Given the description of an element on the screen output the (x, y) to click on. 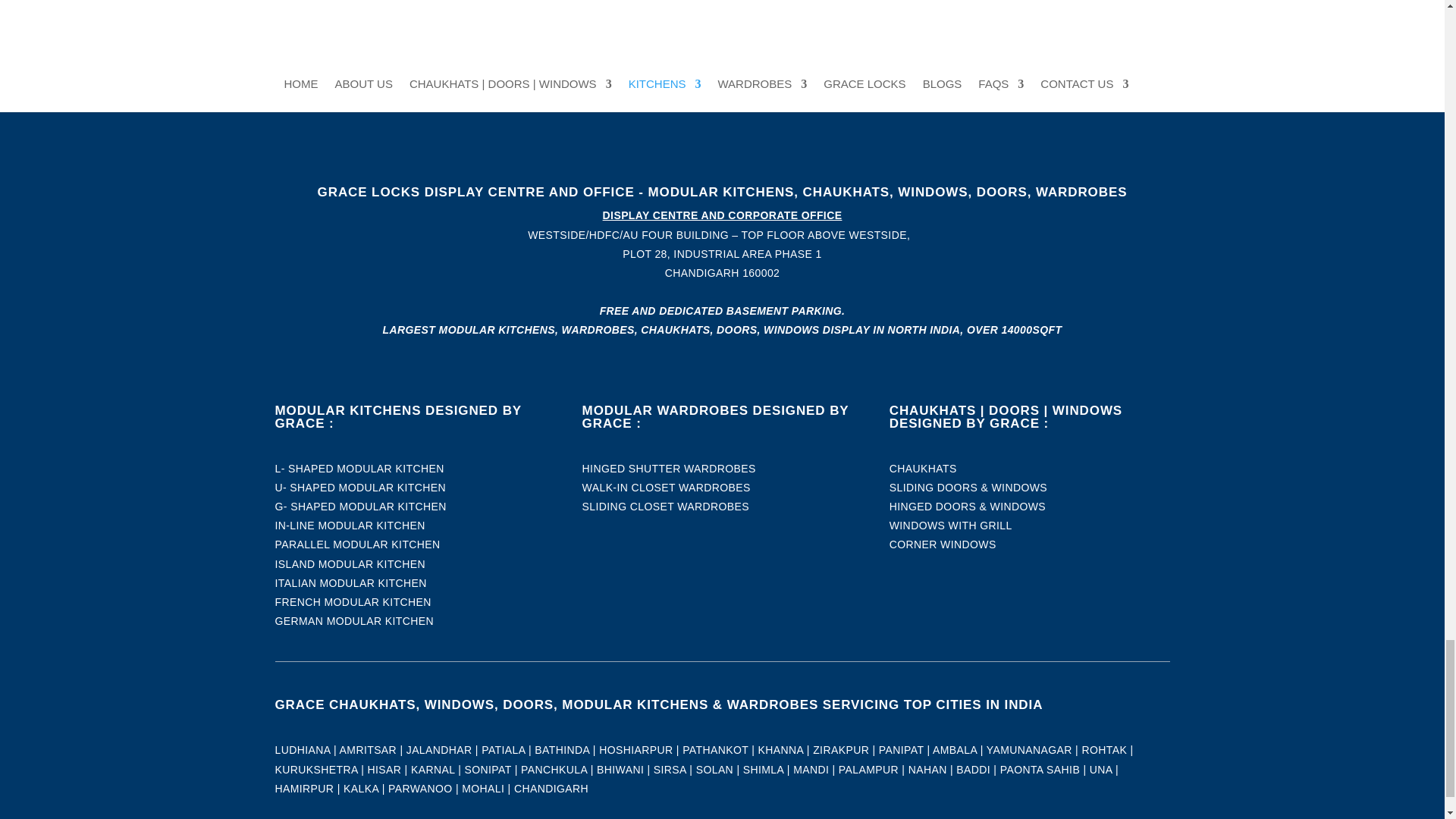
Whatsapp-logo (414, 74)
GRACE LOCKS (722, 54)
FAQS (722, 74)
CONTACT US (722, 93)
MODULAR WARDROBES (722, 35)
MODULAR KITCHENS (722, 16)
